Given the description of an element on the screen output the (x, y) to click on. 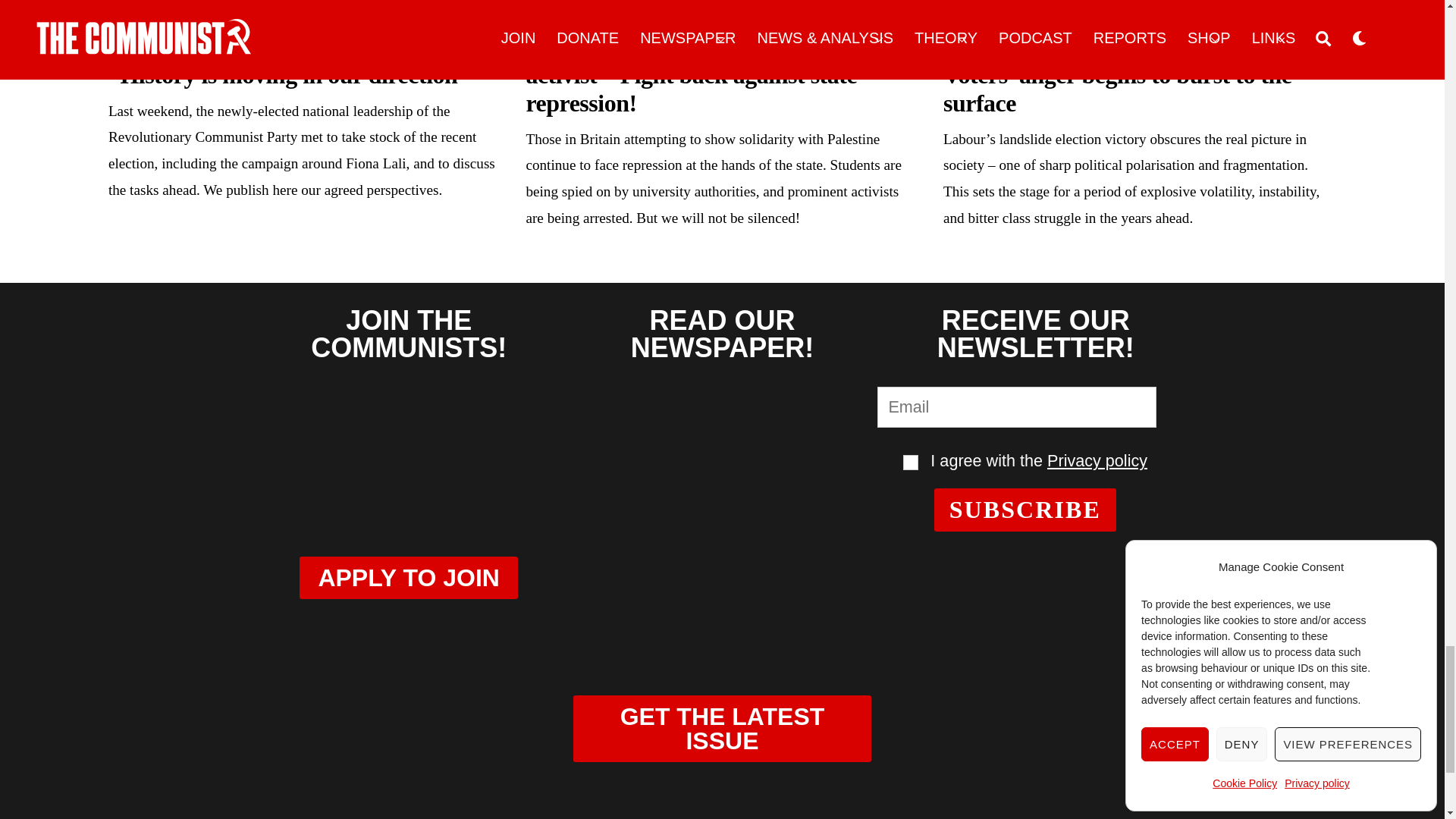
Terms and conditions (910, 462)
on (910, 462)
Privacy policy (1096, 460)
